Given the description of an element on the screen output the (x, y) to click on. 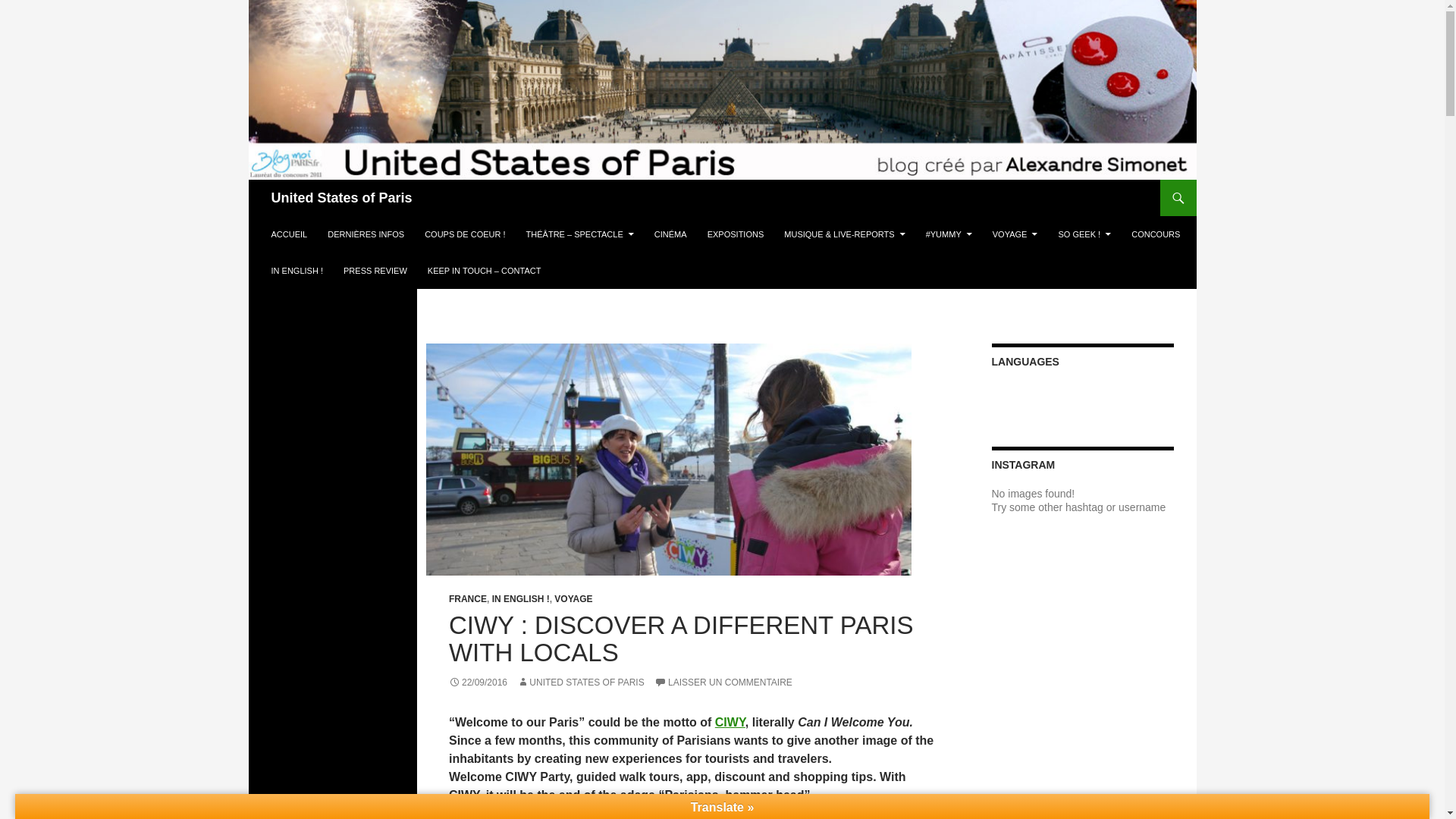
IN ENGLISH ! (521, 598)
VOYAGE (1015, 234)
ACCUEIL (289, 234)
United States of Paris (341, 197)
SO GEEK ! (1085, 234)
PRESS REVIEW (375, 270)
FRANCE (467, 598)
IN ENGLISH ! (296, 270)
